Given the description of an element on the screen output the (x, y) to click on. 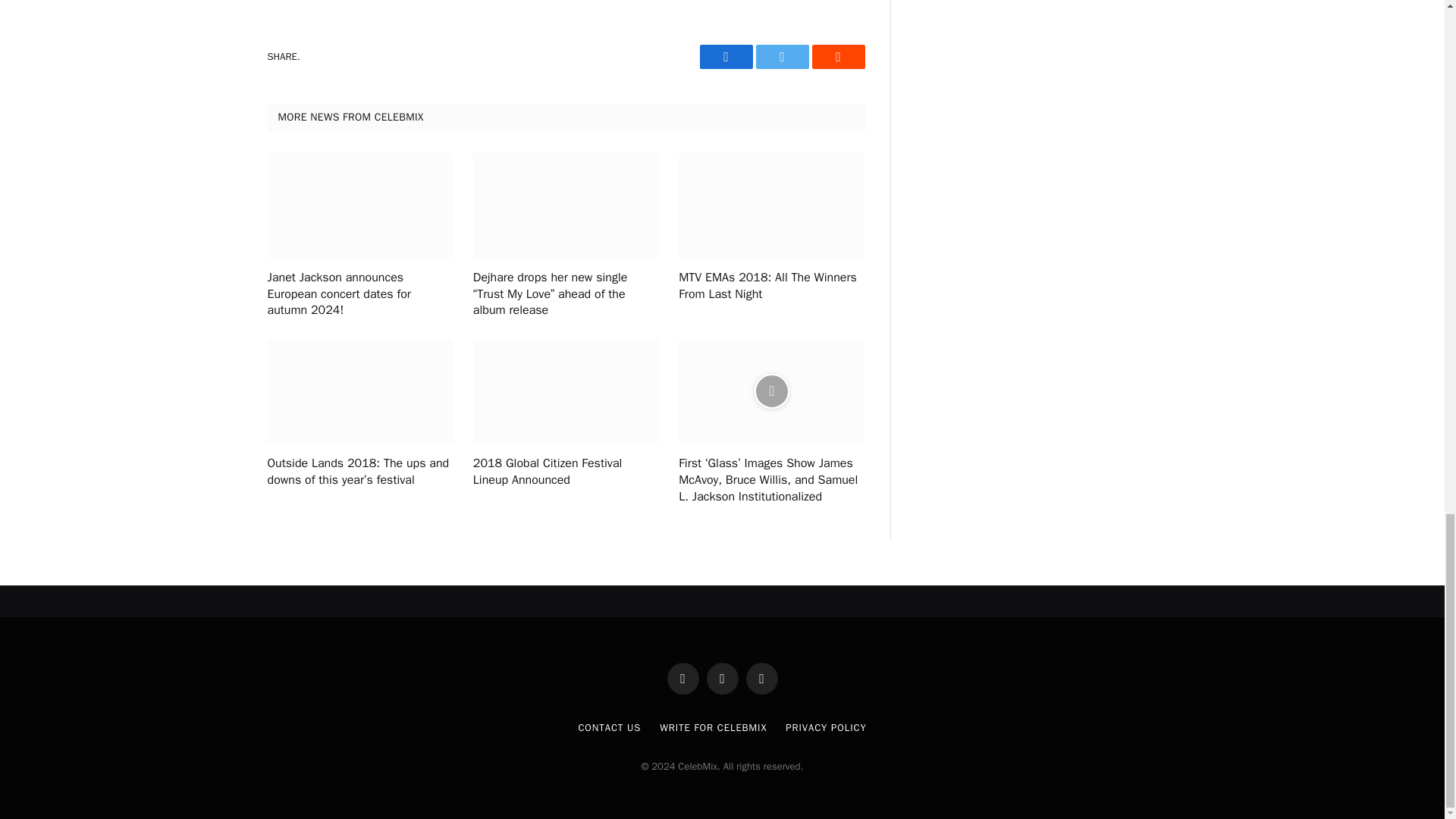
Twitter (781, 56)
MTV EMAs 2018: All The Winners From Last Night (771, 286)
Reddit (837, 56)
Facebook (725, 56)
